Given the description of an element on the screen output the (x, y) to click on. 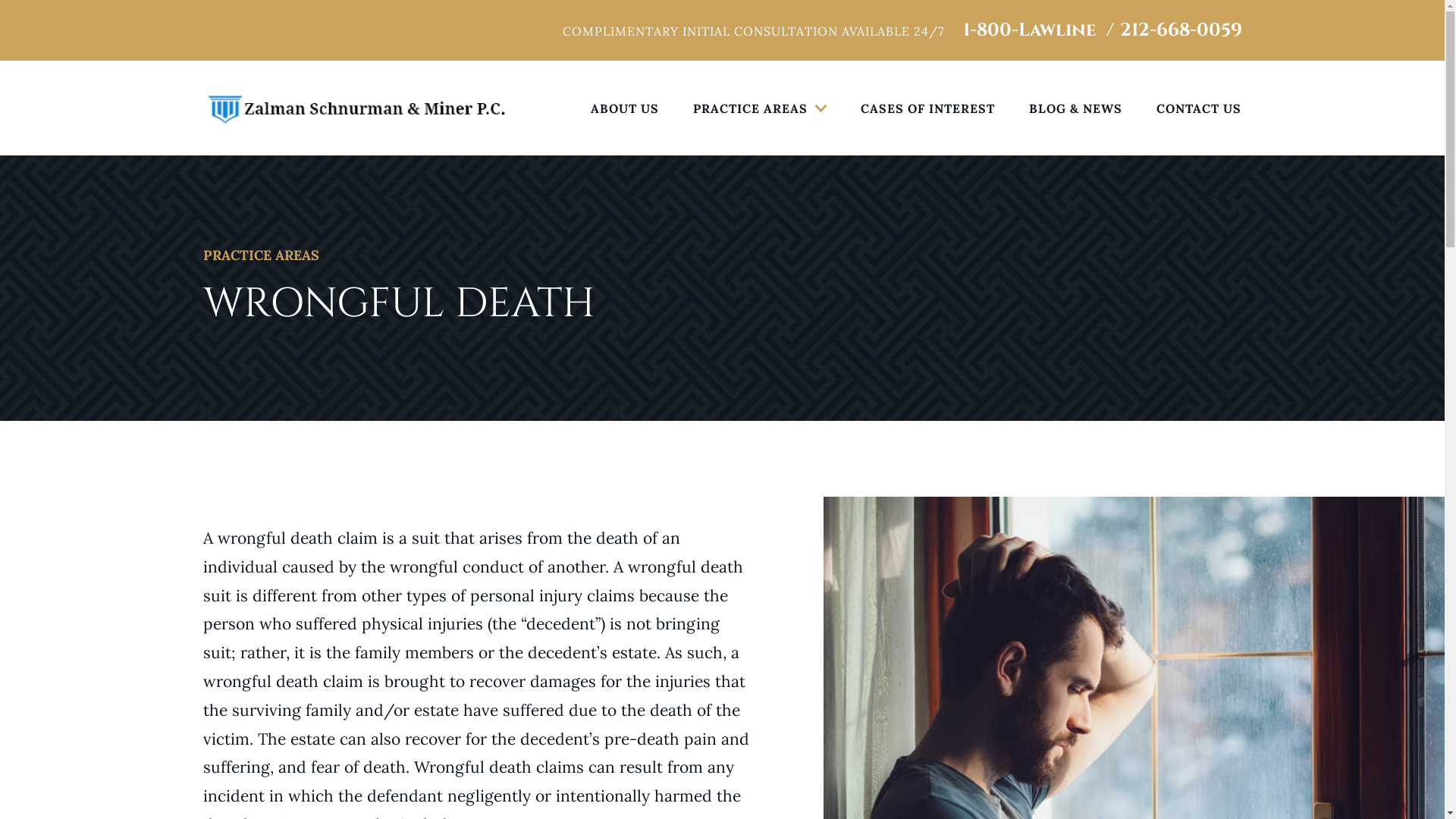
1-800-Lawline Element type: text (1029, 30)
ABOUT US Element type: text (624, 107)
212-668-0059 Element type: text (1180, 30)
CONTACT US Element type: text (1198, 107)
BLOG & NEWS Element type: text (1075, 107)
CASES OF INTEREST Element type: text (927, 107)
PRACTICE AREAS Element type: text (759, 107)
